Given the description of an element on the screen output the (x, y) to click on. 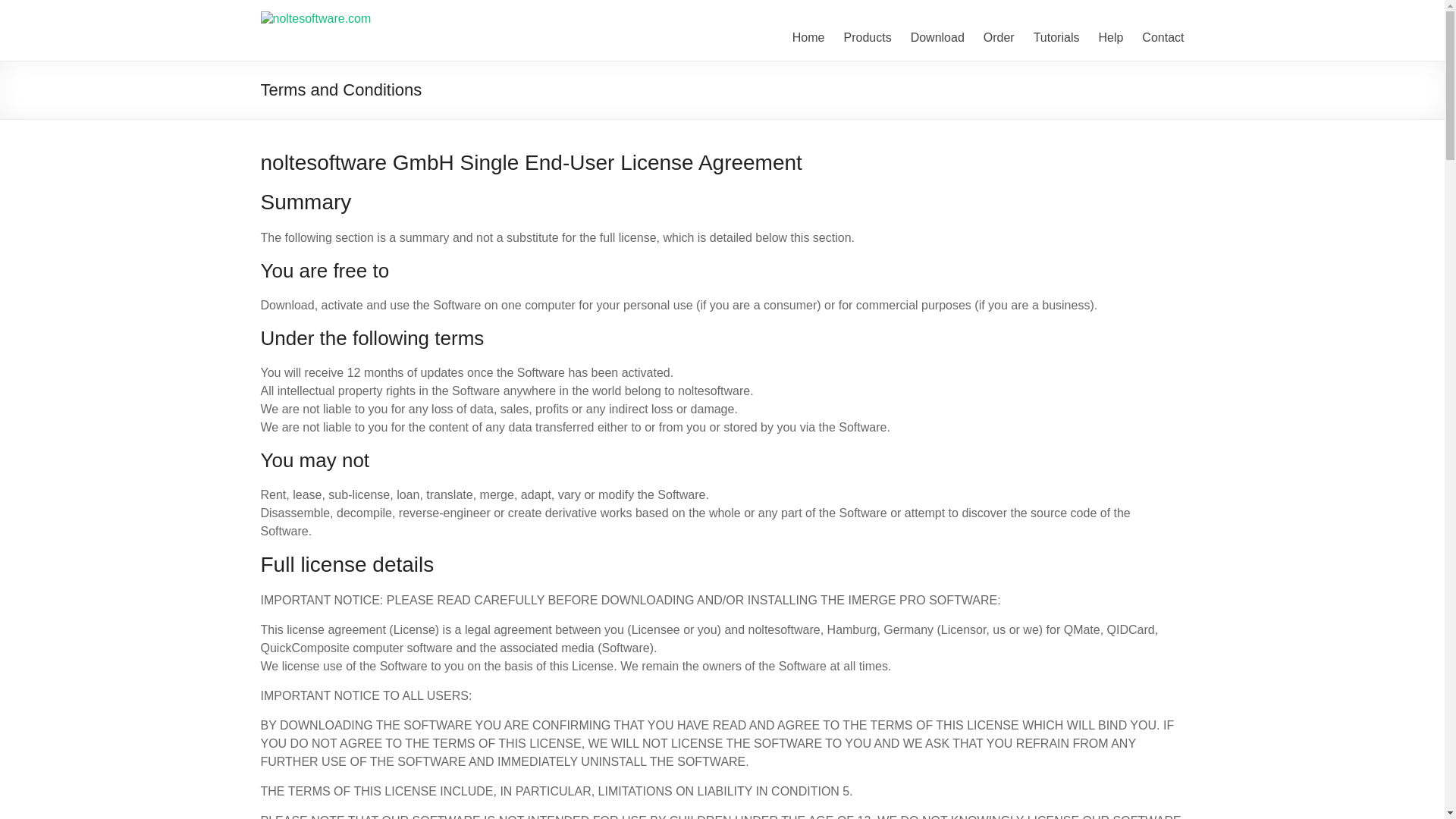
noltesoftware.com (369, 30)
Download (937, 37)
Contact (1162, 37)
noltesoftware.com (369, 30)
Help (1109, 37)
Products (867, 37)
Home (808, 37)
Tutorials (1056, 37)
Order (999, 37)
